Given the description of an element on the screen output the (x, y) to click on. 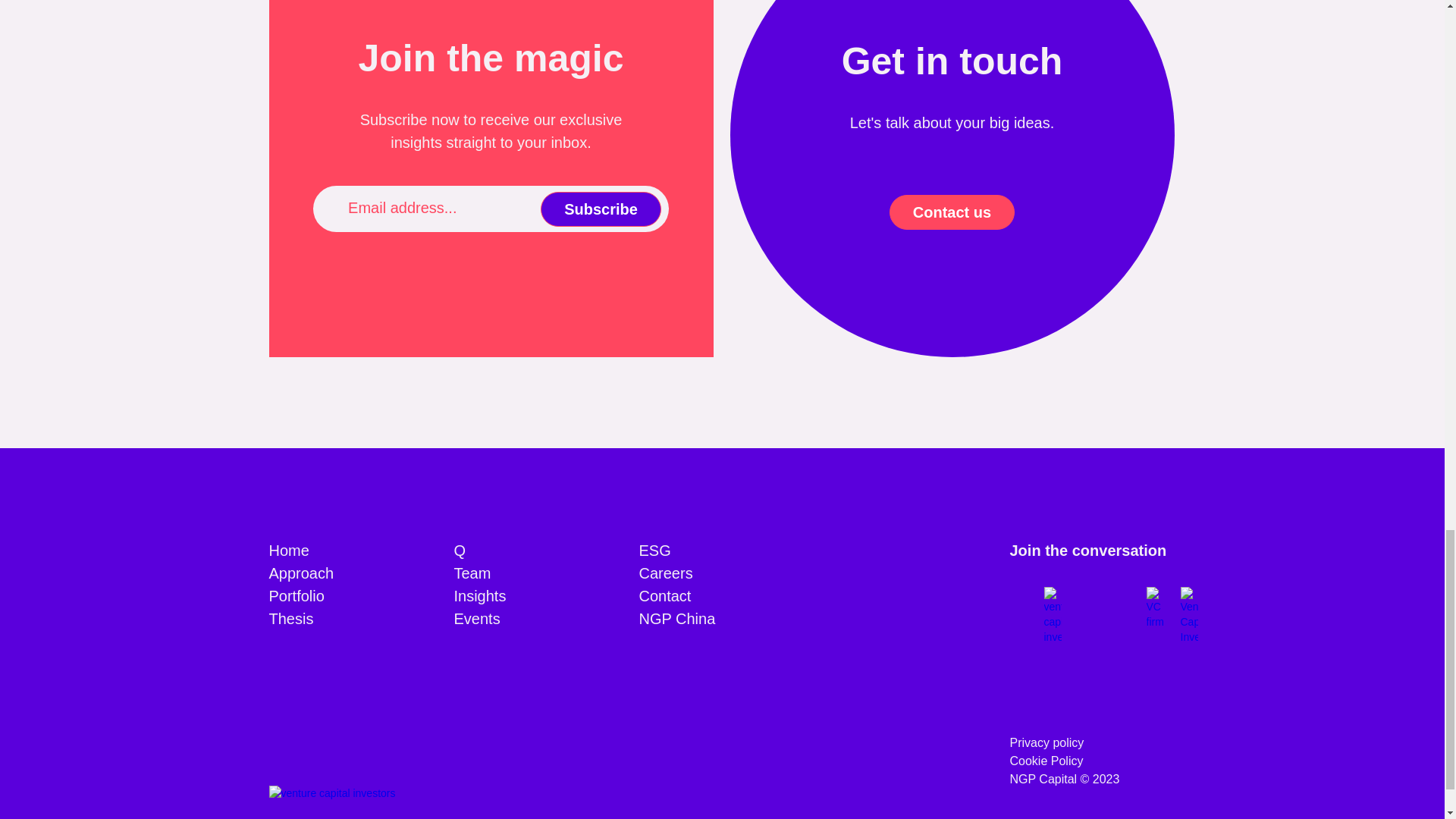
Team (471, 572)
Portfolio (295, 595)
Contact us (951, 211)
Thesis (290, 618)
NGP China (676, 618)
Approach (300, 572)
Subscribe (600, 208)
Careers (666, 572)
Subscribe (600, 208)
Contact (664, 595)
